Given the description of an element on the screen output the (x, y) to click on. 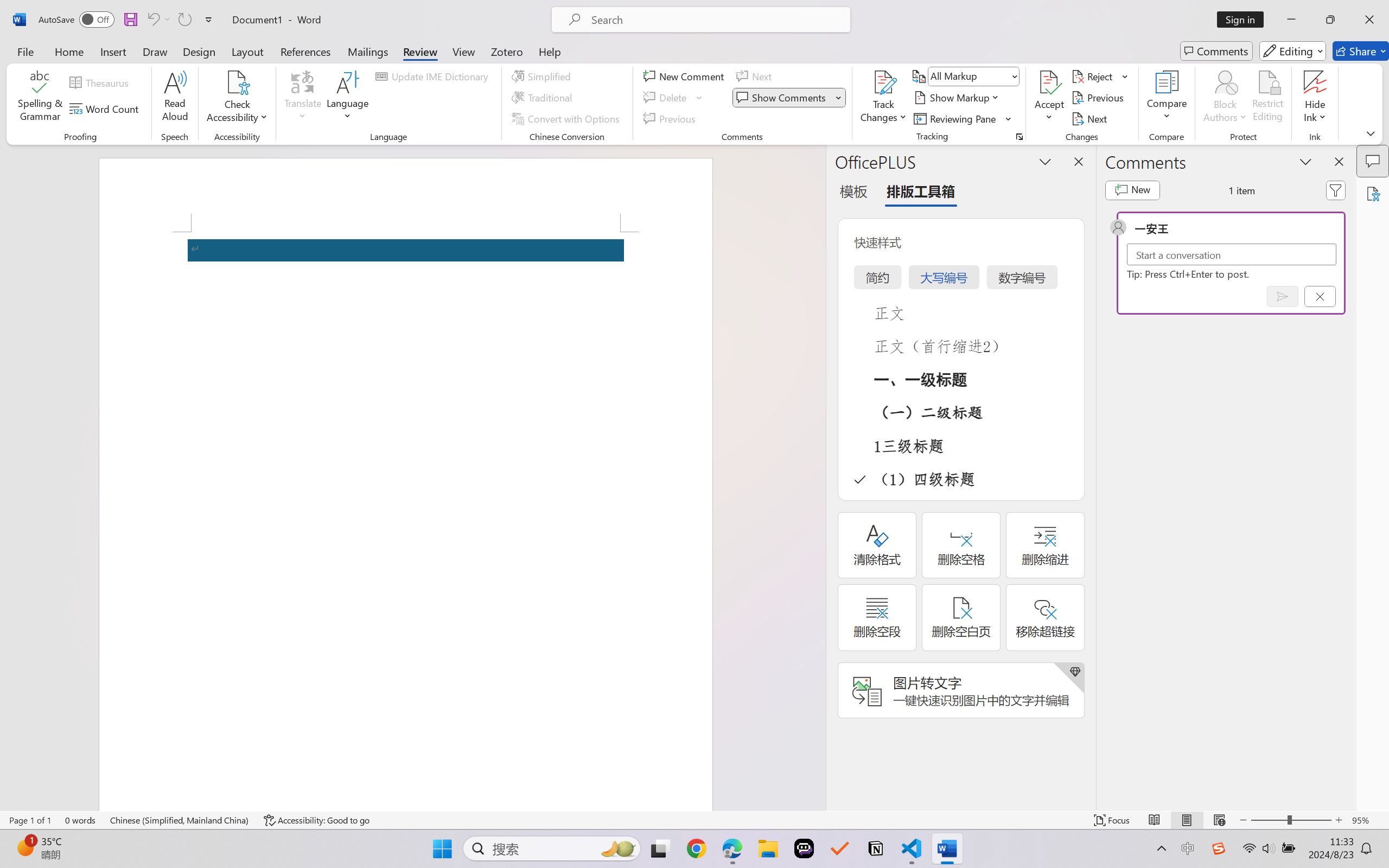
Simplified (542, 75)
Block Authors (1224, 81)
Change Tracking Options... (1019, 136)
Undo Apply Quick Style Set (152, 19)
Show Comments (782, 97)
Start a conversation (1231, 254)
Thesaurus... (101, 82)
Accept (1049, 97)
Check Accessibility (237, 81)
